Given the description of an element on the screen output the (x, y) to click on. 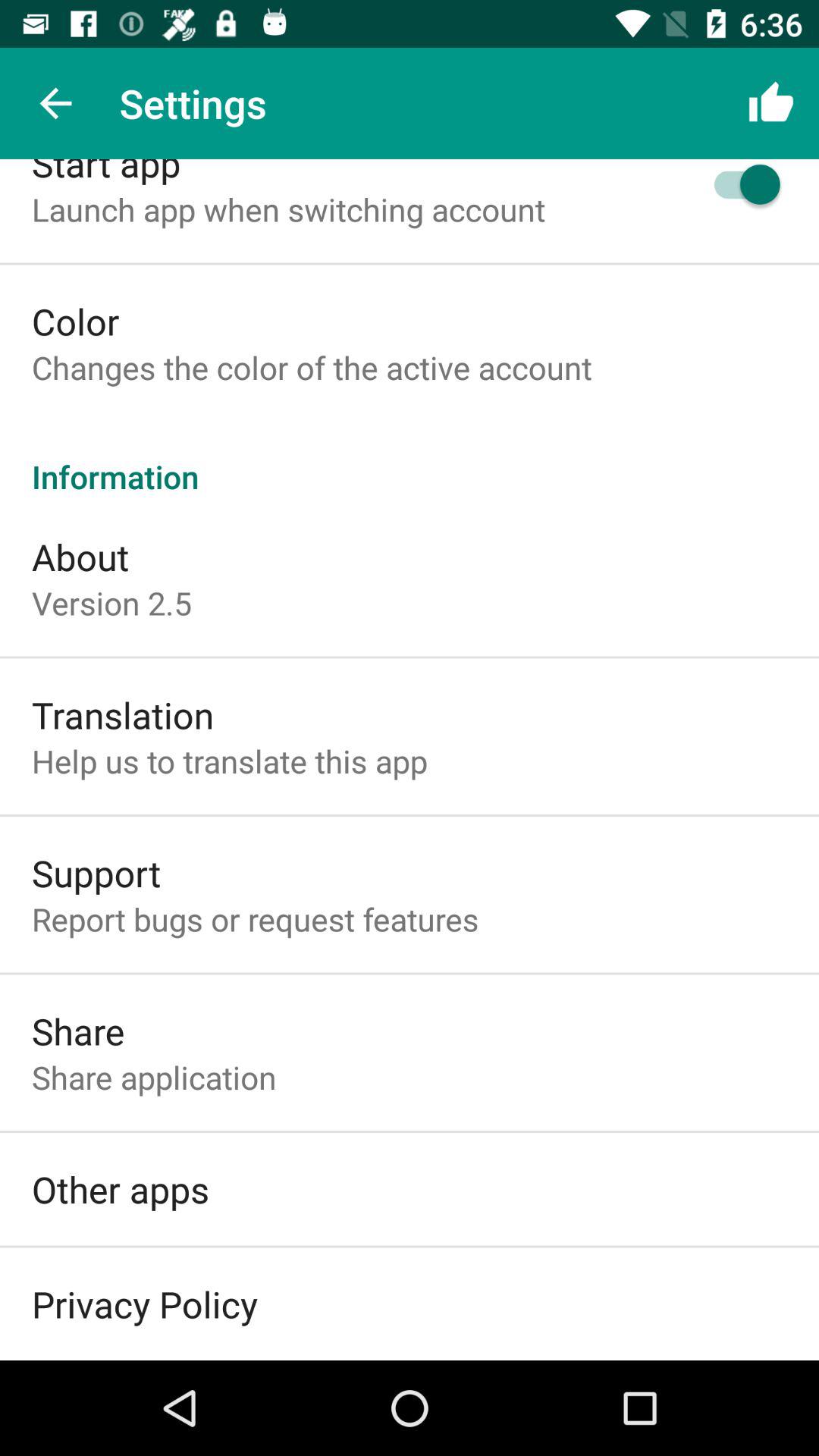
turn on icon next to settings icon (55, 103)
